Given the description of an element on the screen output the (x, y) to click on. 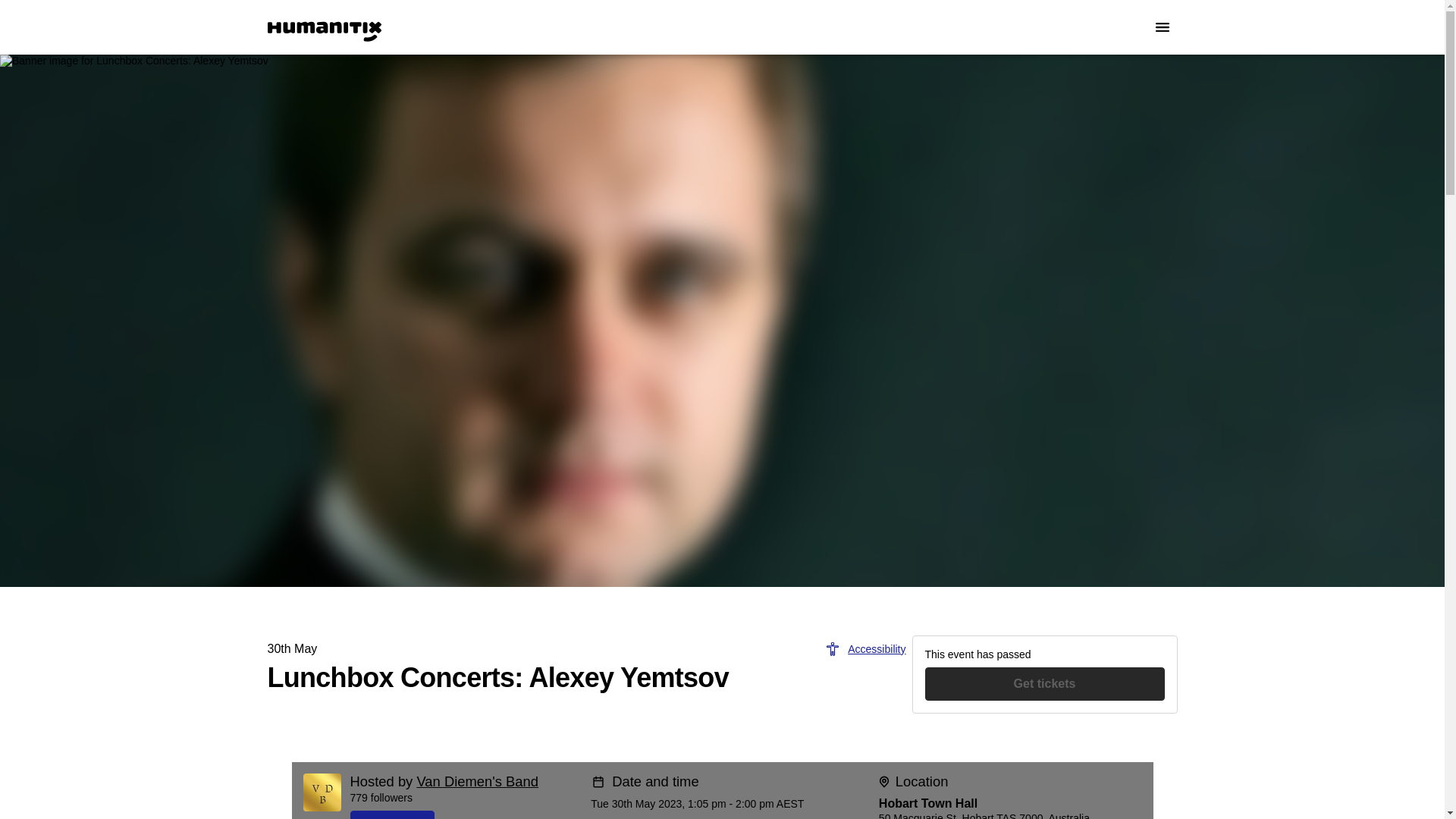
Get tickets (1044, 684)
Van Diemen's Band (477, 781)
Skip to Content (18, 18)
Accessibility (865, 648)
Follow (465, 814)
